Given the description of an element on the screen output the (x, y) to click on. 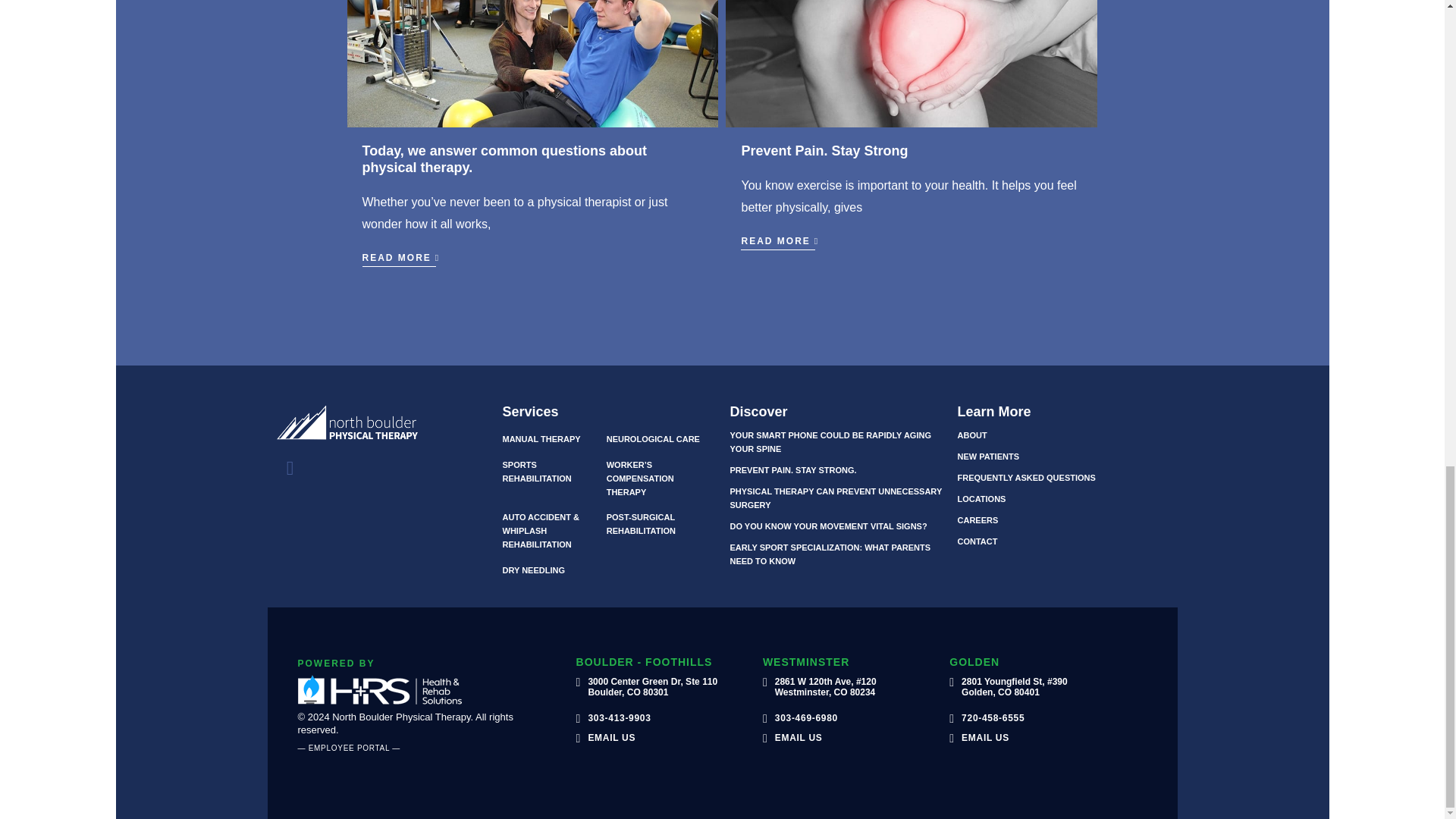
Today, we answer common questions about physical therapy. (504, 159)
North Boulder Physical Therapy (380, 428)
Prevent Pain. Stay Strong (824, 150)
